Given the description of an element on the screen output the (x, y) to click on. 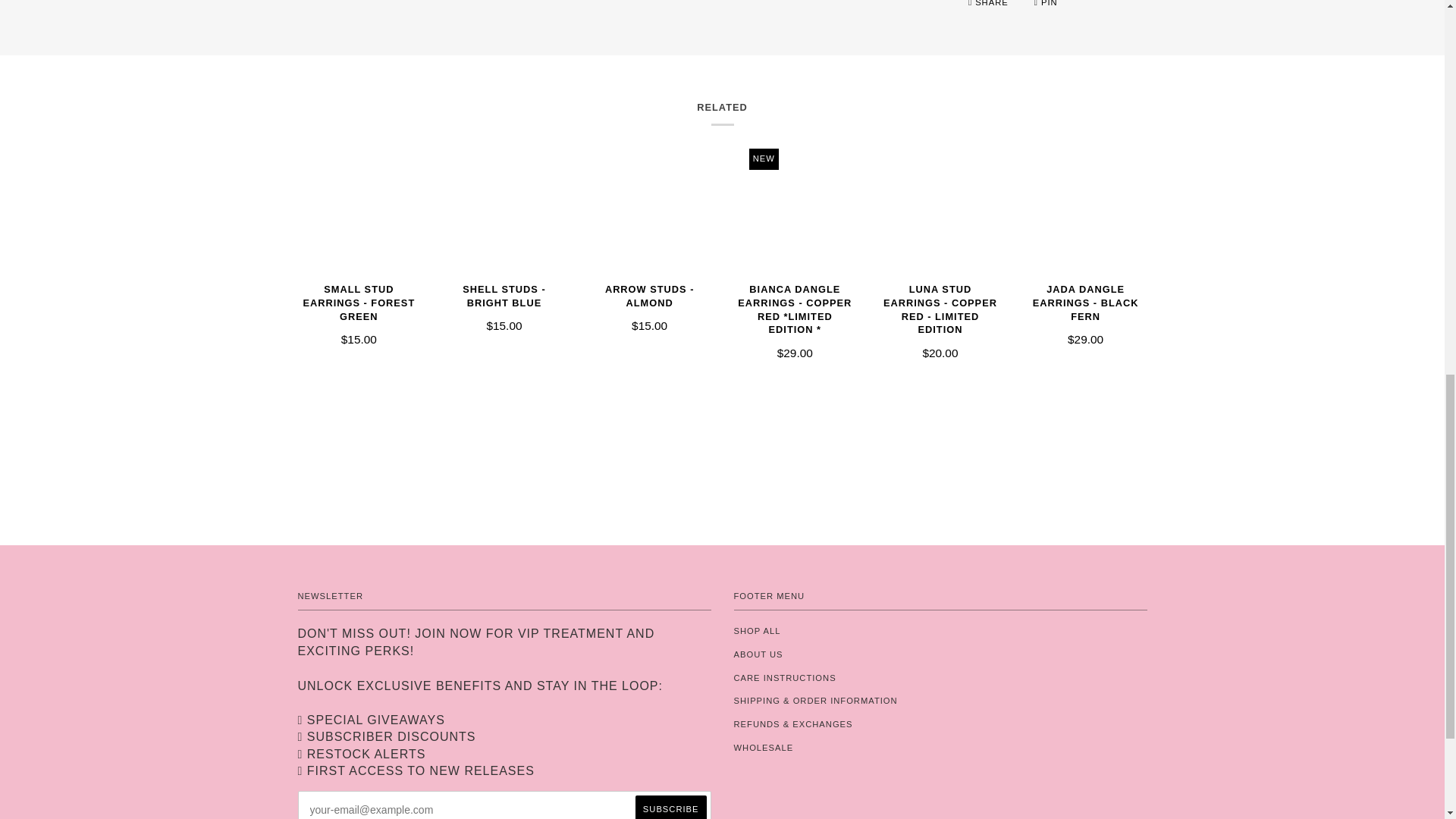
Subscribe (670, 807)
